Given the description of an element on the screen output the (x, y) to click on. 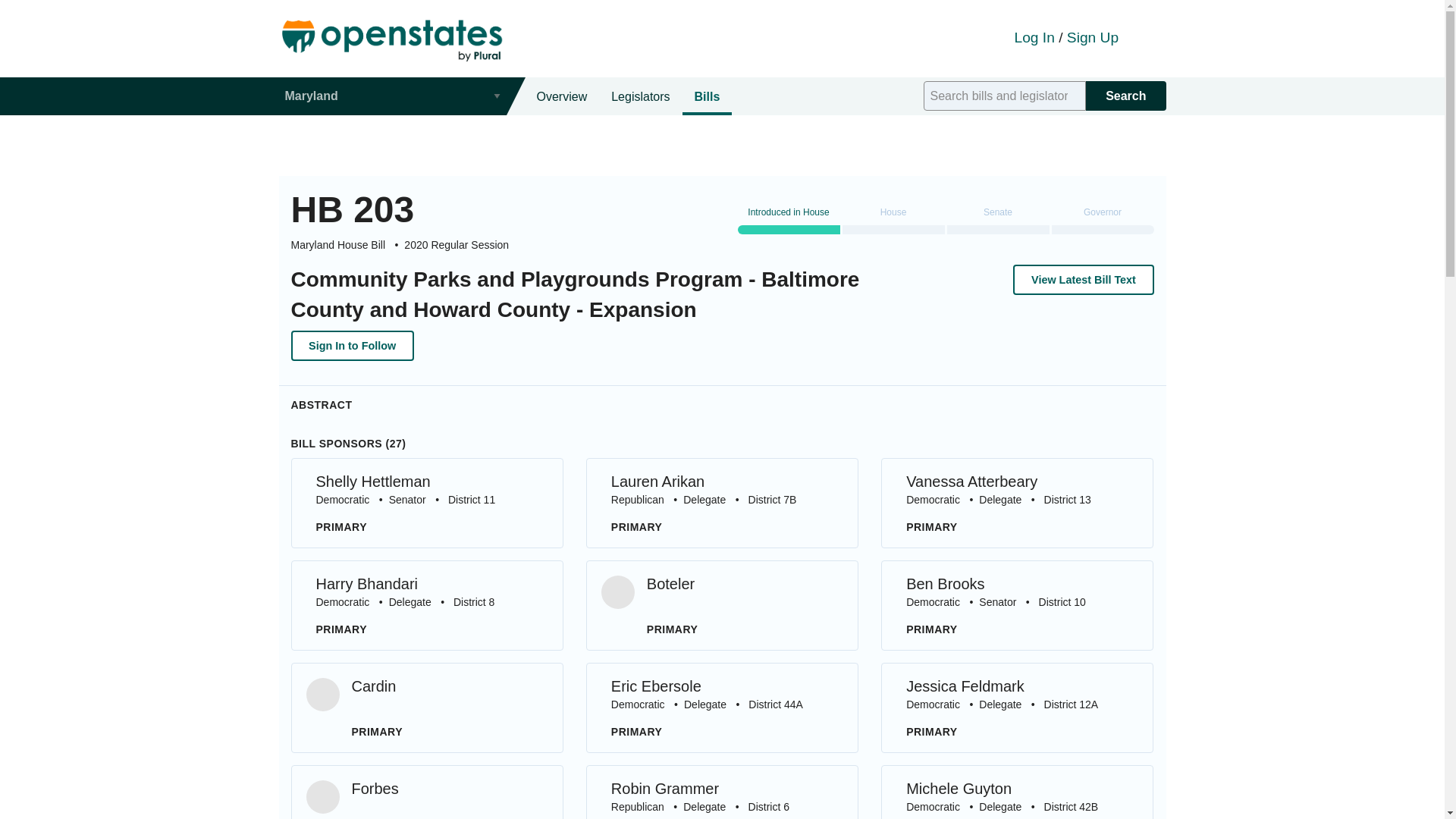
Bills (427, 605)
Legislators (707, 95)
Overview (639, 95)
View Latest Bill Text (1016, 707)
Log In (722, 502)
Sign In to Follow (561, 95)
Sign Up (1016, 791)
